Given the description of an element on the screen output the (x, y) to click on. 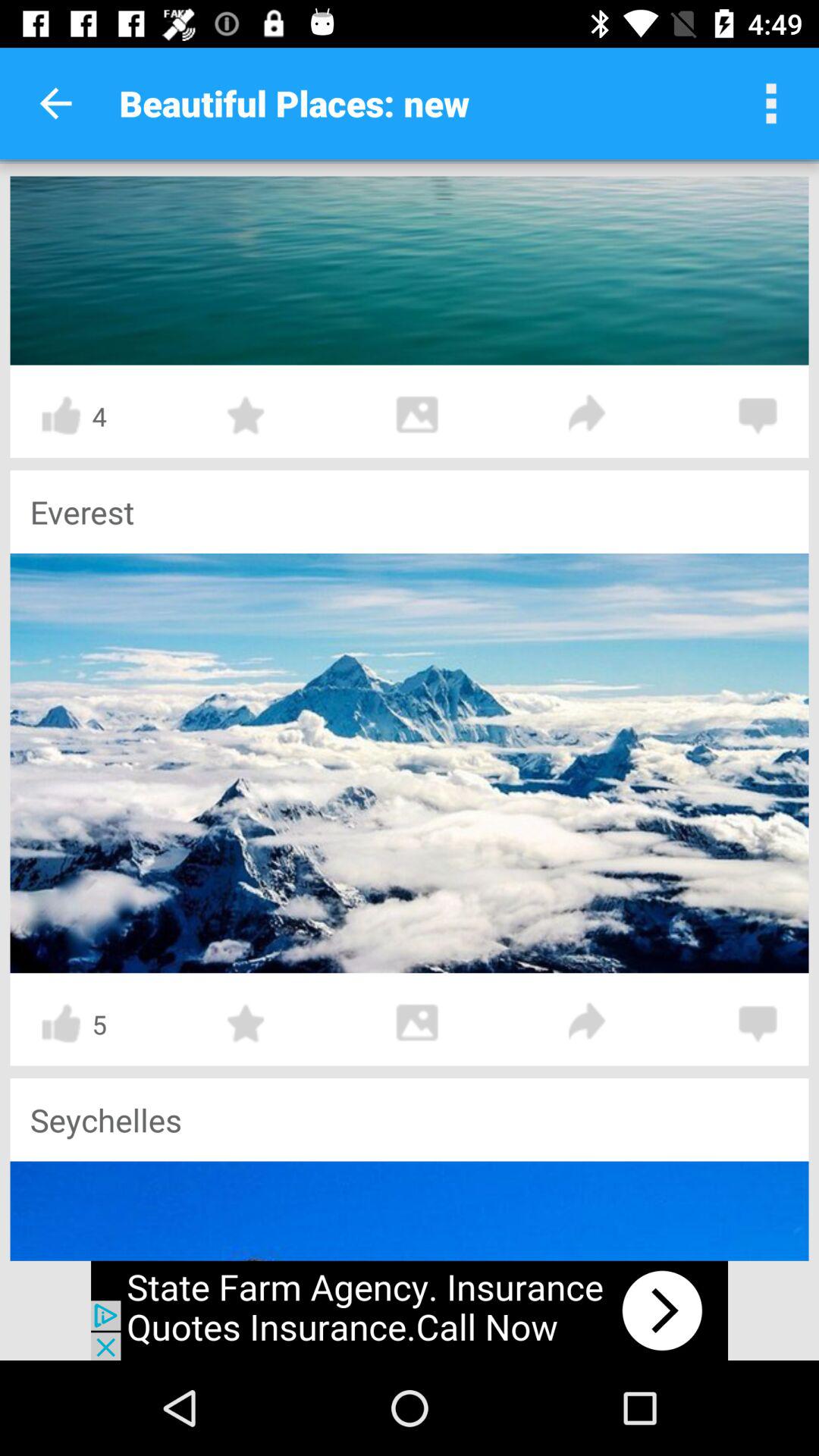
create message (757, 1023)
